Given the description of an element on the screen output the (x, y) to click on. 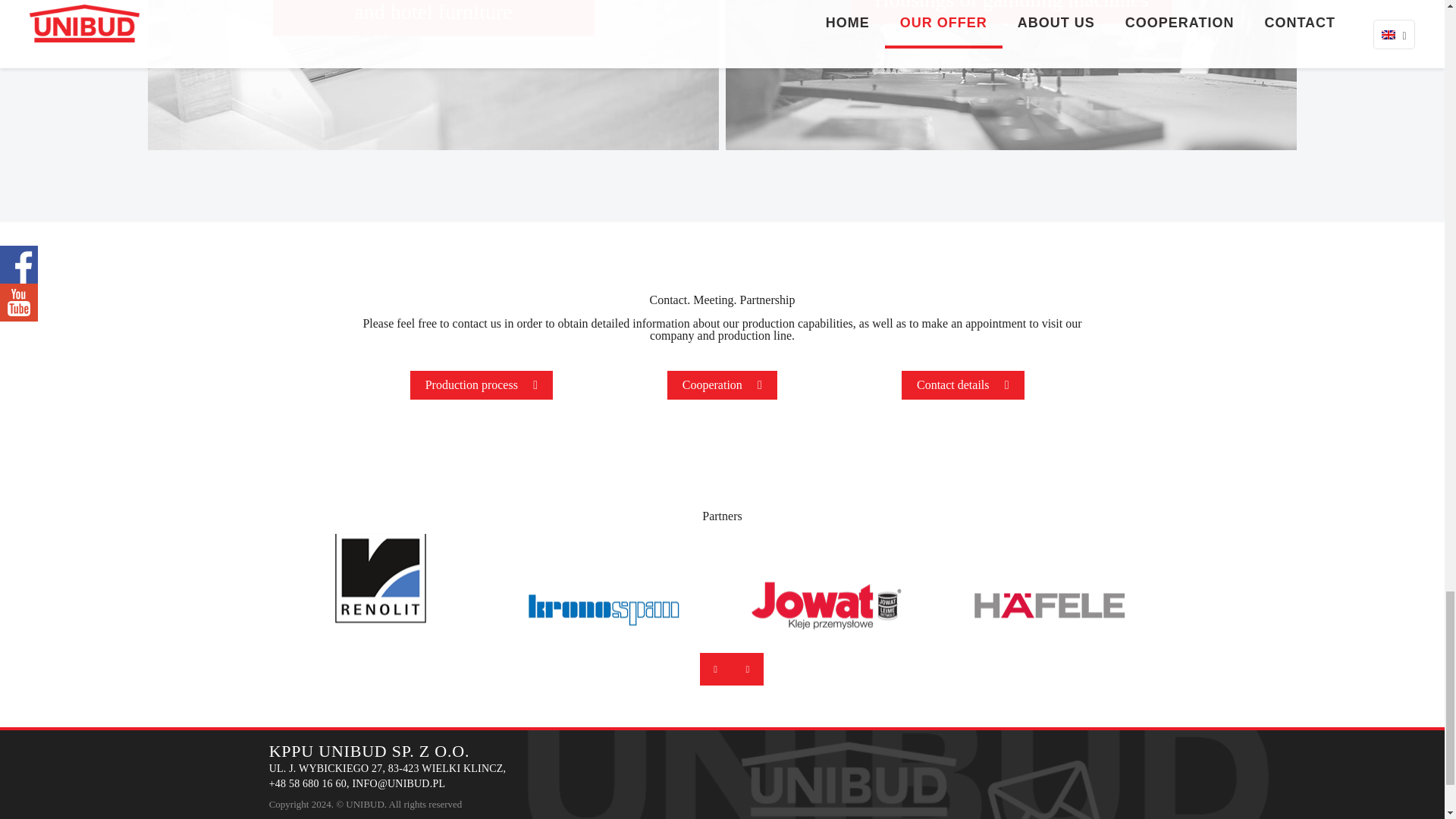
Housings of gambling machines (1011, 74)
Production of bathroom, kitchen and hotel furniture (433, 74)
